Given the description of an element on the screen output the (x, y) to click on. 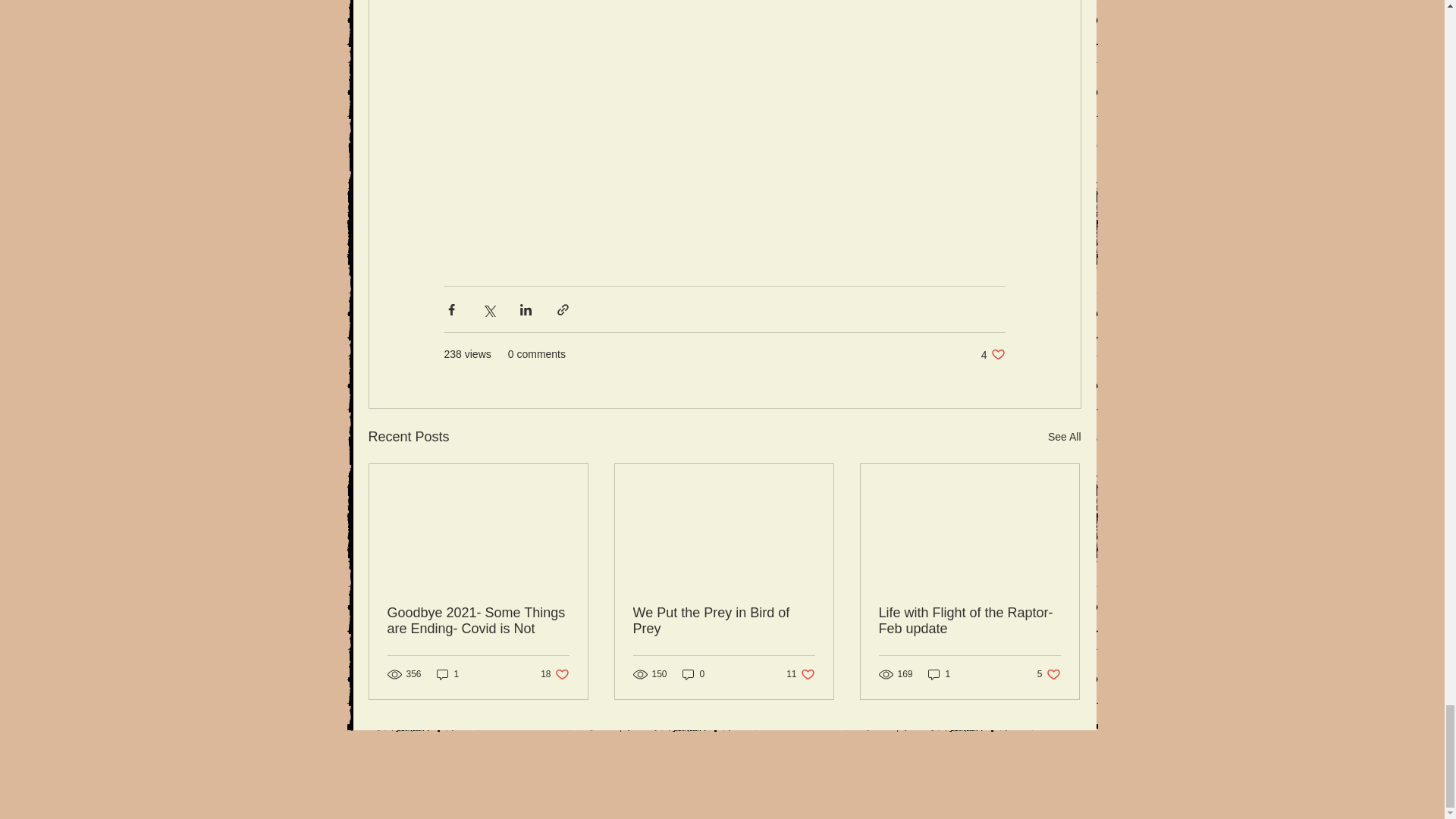
1 (448, 674)
Goodbye 2021- Some Things are Ending- Covid is Not (478, 621)
We Put the Prey in Bird of Prey (799, 674)
1 (554, 674)
0 (993, 354)
See All (722, 621)
Life with Flight of the Raptor-Feb update (939, 674)
